Given the description of an element on the screen output the (x, y) to click on. 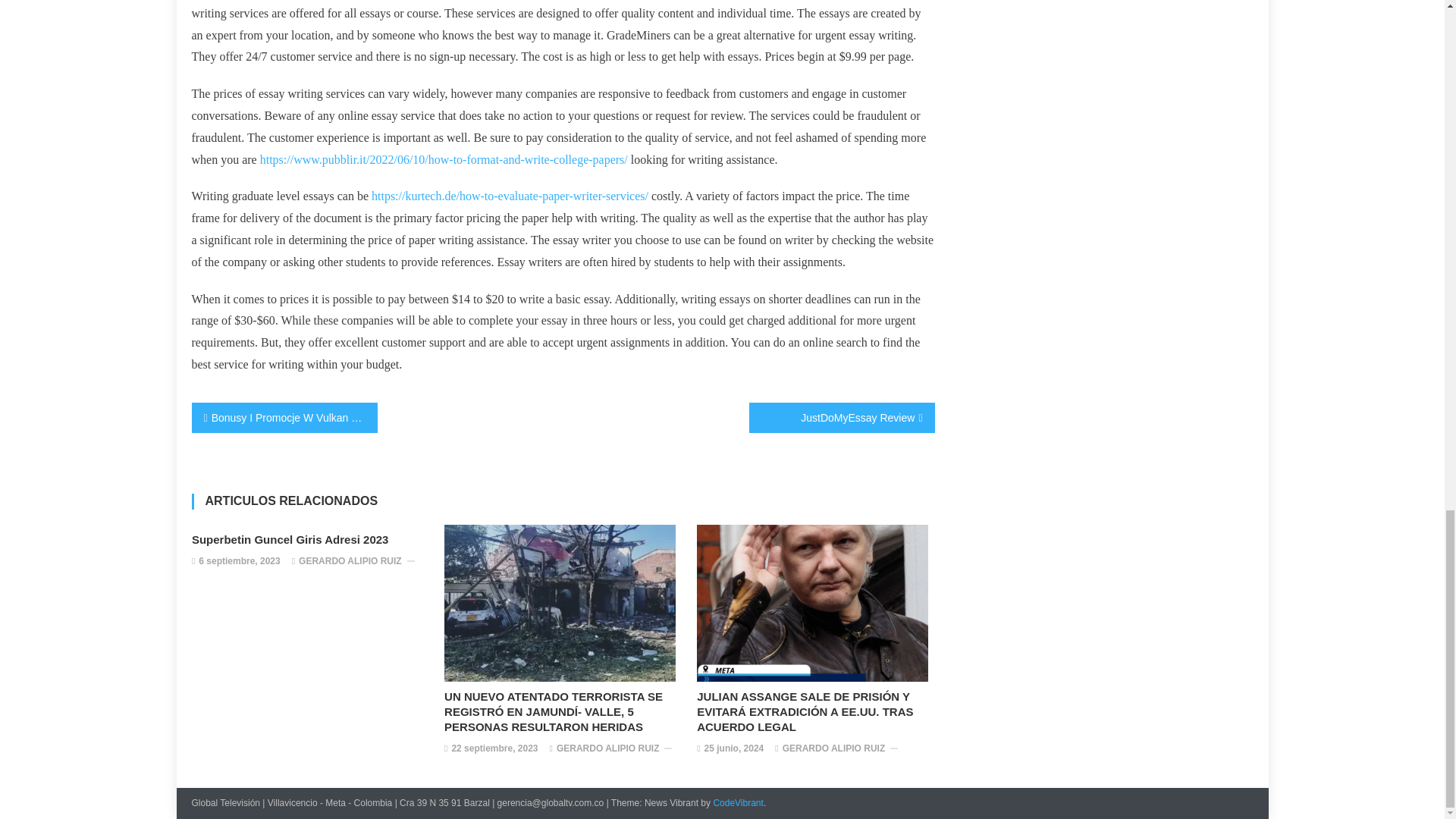
Bonusy I Promocje W Vulkan Vegas Kasyno Online (283, 417)
GERARDO ALIPIO RUIZ (607, 749)
JustDoMyEssay Review (841, 417)
22 septiembre, 2023 (494, 749)
25 junio, 2024 (734, 749)
Superbetin Guncel Giris Adresi 2023 (310, 539)
GERARDO ALIPIO RUIZ (349, 561)
6 septiembre, 2023 (238, 561)
